Given the description of an element on the screen output the (x, y) to click on. 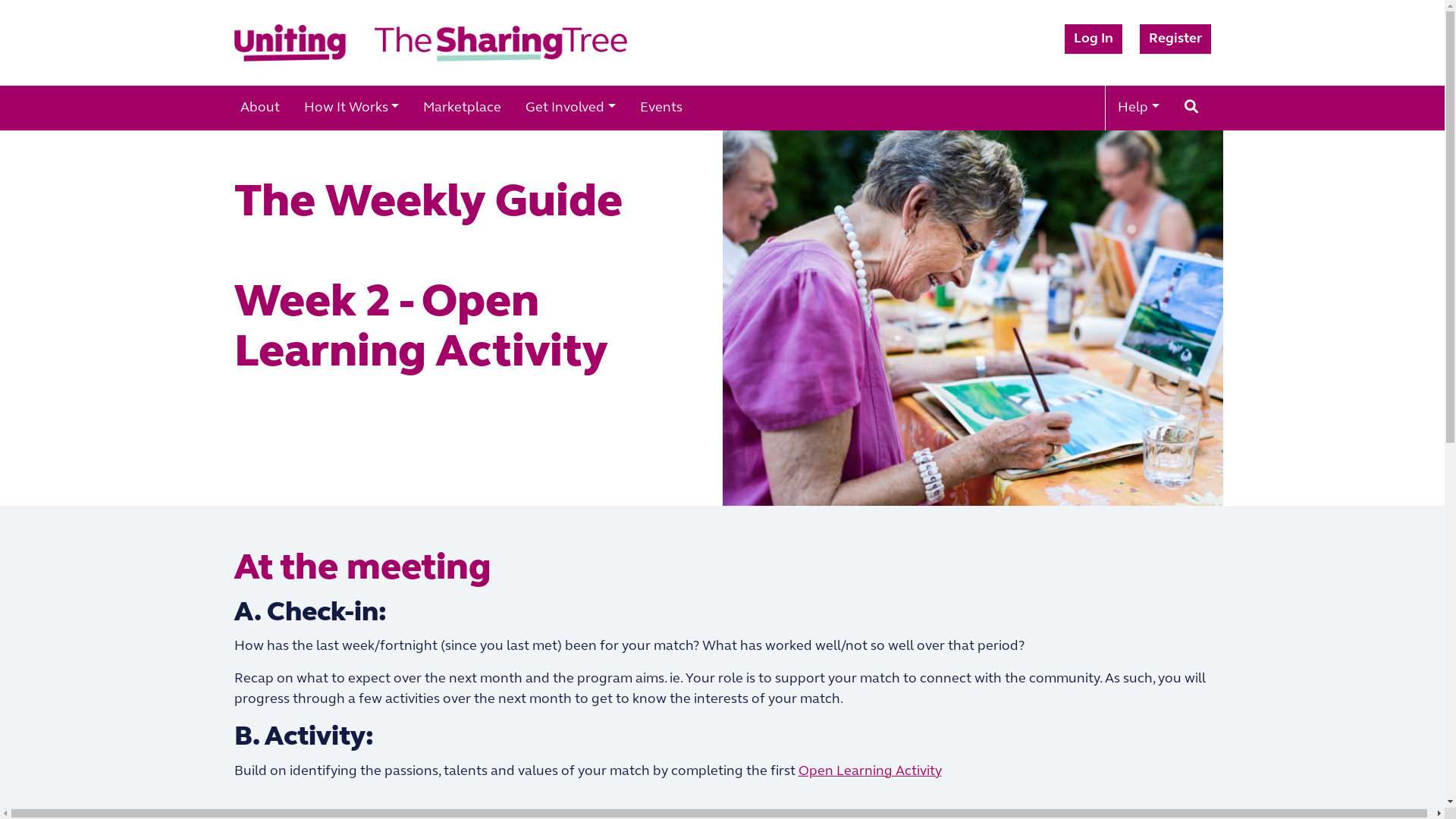
Get Involved Element type: text (570, 107)
Log In Element type: text (1093, 38)
Events Element type: text (660, 107)
Register Element type: text (1174, 38)
Open Learning Activity Element type: text (869, 771)
Help Element type: text (1138, 107)
About Element type: text (259, 107)
How It Works Element type: text (351, 107)
Marketplace Element type: text (462, 107)
